Given the description of an element on the screen output the (x, y) to click on. 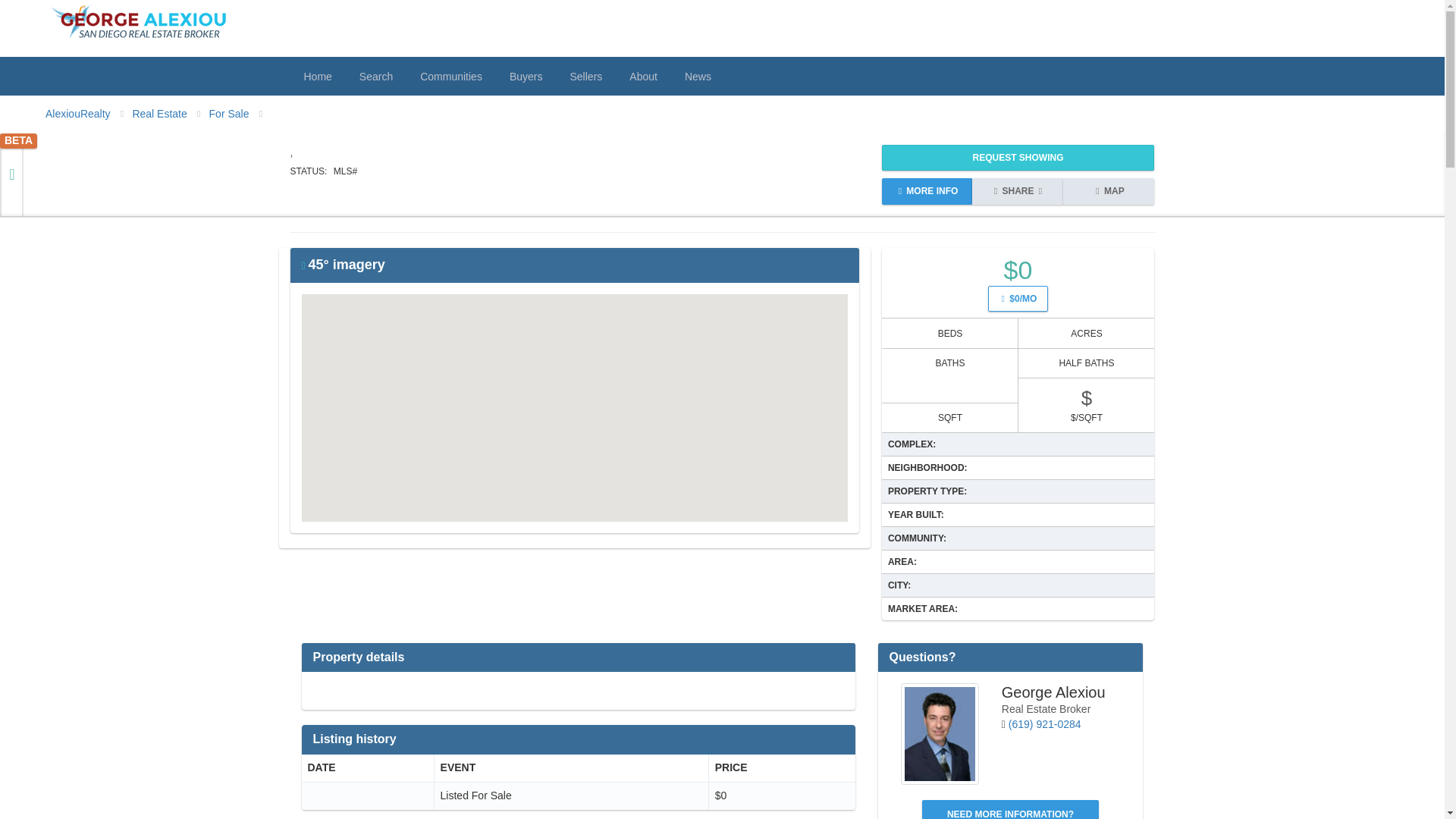
MORE INFO (926, 190)
Buyers (526, 75)
MAP (1108, 190)
Home (317, 75)
AlexiouRealty (77, 113)
Real Estate (159, 113)
About (643, 75)
Sellers (585, 75)
SHARE (1017, 190)
AlexiouRealty - San Diego Real Estate (77, 113)
